Given the description of an element on the screen output the (x, y) to click on. 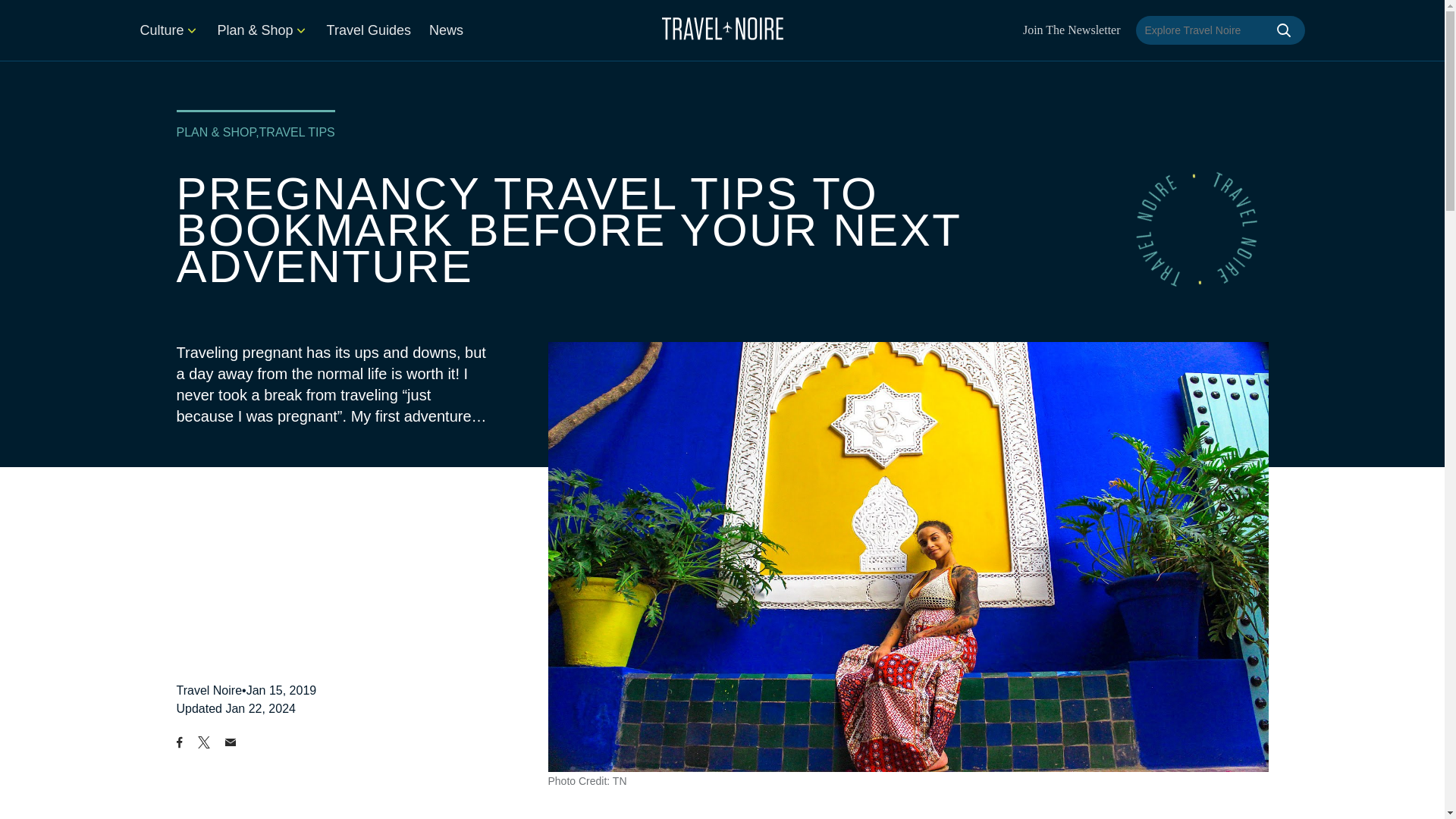
TRAVEL TIPS (296, 132)
Travel Noire (208, 689)
Newsletter (1072, 29)
News (446, 29)
Join The Newsletter (1072, 29)
Travel Noire (208, 689)
Culture (168, 30)
Travel Noire (722, 28)
Travel Guides (368, 29)
